Given the description of an element on the screen output the (x, y) to click on. 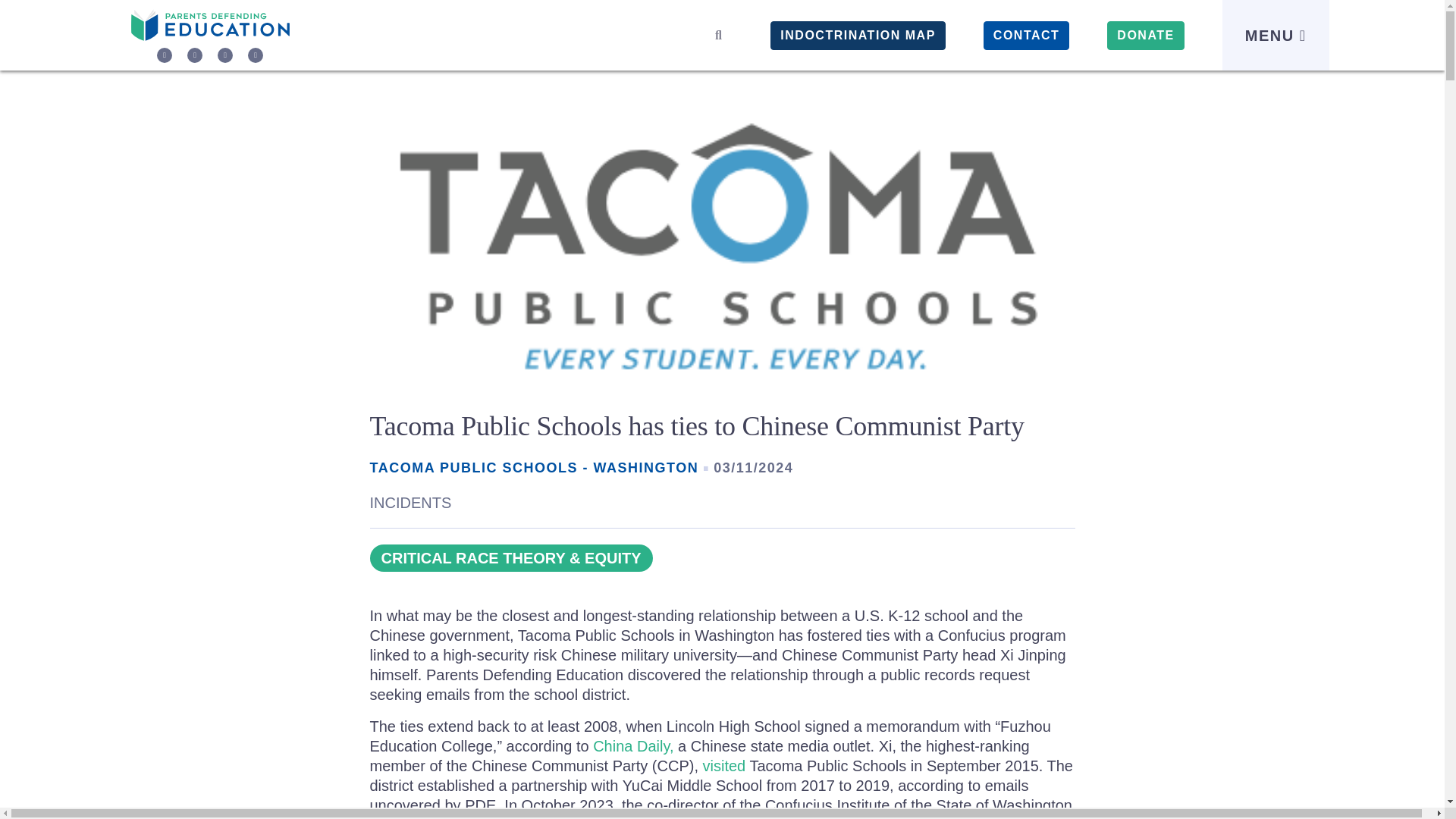
Twitter (164, 55)
Facebook (194, 55)
DONATE (1144, 35)
INDOCTRINATION MAP (857, 35)
Instagram (224, 55)
Youtube (255, 55)
MENU (1276, 35)
TOGGLE SEARCH MODAL (718, 35)
CONTACT (1027, 35)
